Given the description of an element on the screen output the (x, y) to click on. 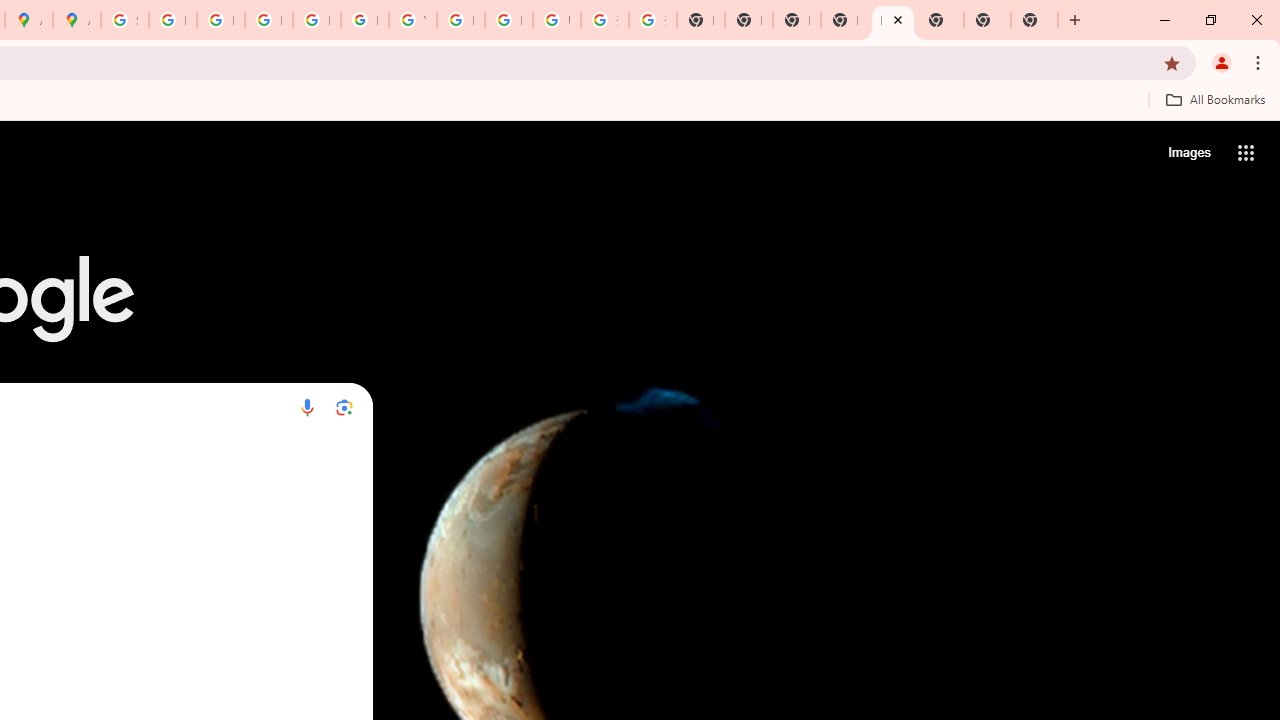
New Tab (987, 20)
Privacy Help Center - Policies Help (220, 20)
New Tab (1034, 20)
Sign in - Google Accounts (124, 20)
Privacy Help Center - Policies Help (268, 20)
